Given the description of an element on the screen output the (x, y) to click on. 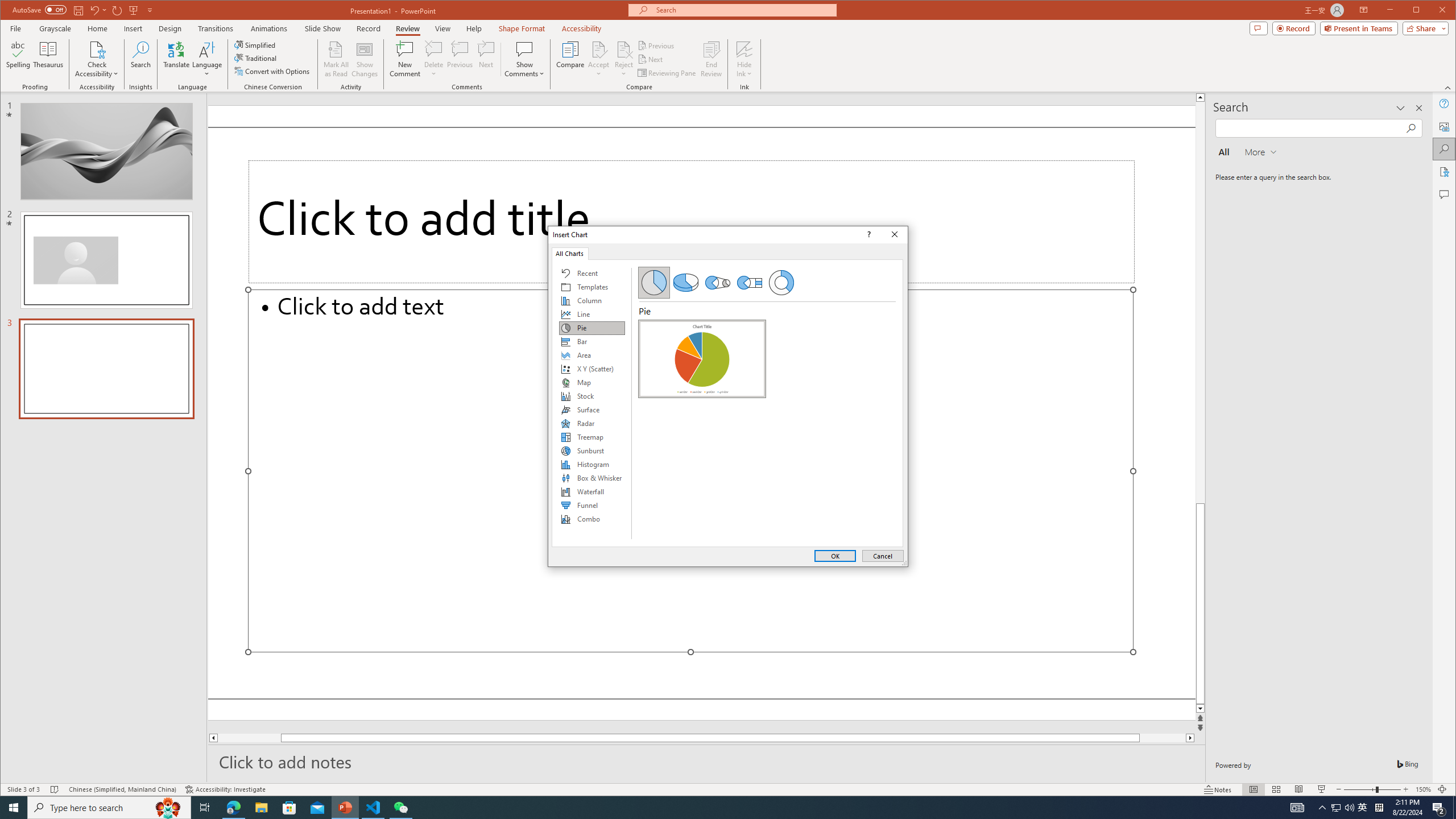
Shape Format (521, 28)
Class: NetUIGalleryContainer (701, 429)
Microsoft Edge - 1 running window (233, 807)
Delete (433, 48)
Delete (433, 59)
Context help (867, 234)
Visual Studio Code - 1 running window (373, 807)
Tray Input Indicator - Chinese (Simplified, China) (1378, 807)
Templates (591, 287)
